Given the description of an element on the screen output the (x, y) to click on. 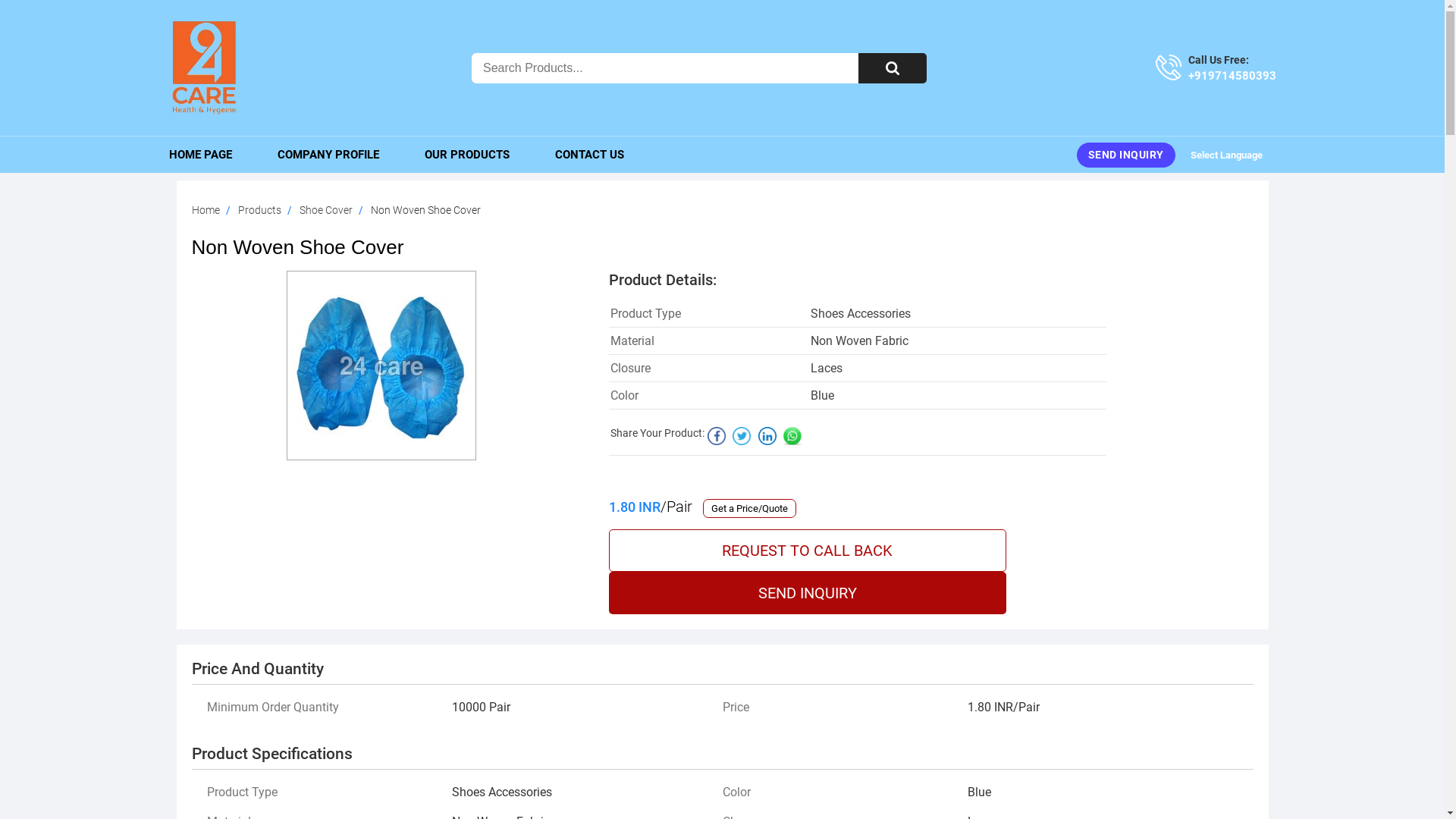
Get a Price/Quote Element type: text (748, 507)
SEND INQUIRY Element type: text (1125, 154)
Shoe Cover Element type: text (324, 209)
SEND INQUIRY Element type: text (807, 592)
Search Element type: hover (892, 68)
COMPANY PROFILE Element type: text (327, 154)
Select Language Element type: text (1233, 154)
HOME PAGE Element type: text (211, 154)
REQUEST TO CALL BACK Element type: text (807, 550)
Products Element type: text (259, 209)
OUR PRODUCTS Element type: text (466, 154)
CONTACT US Element type: text (589, 154)
Home Element type: text (205, 209)
